Given the description of an element on the screen output the (x, y) to click on. 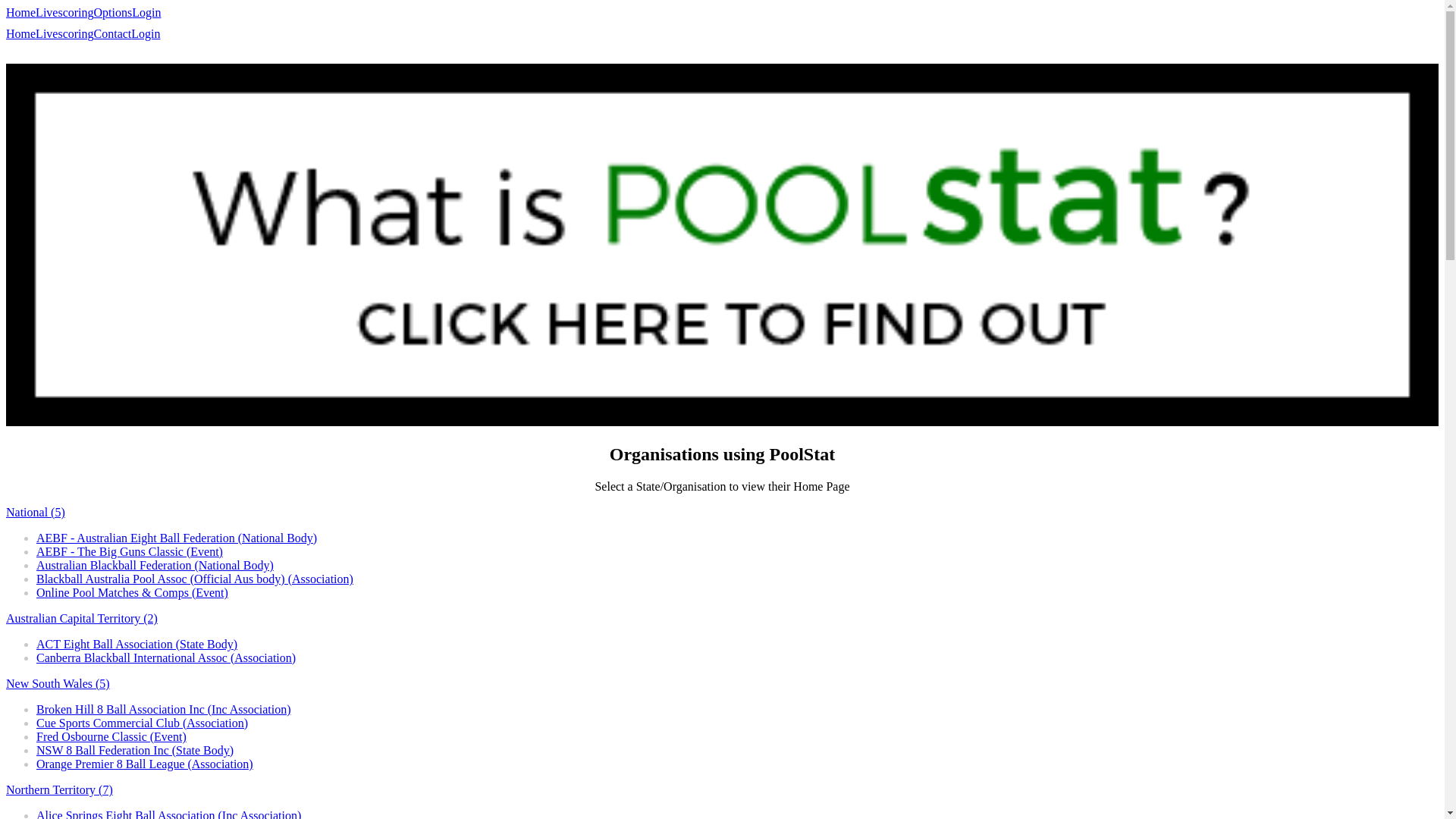
AEBF - Australian Eight Ball Federation (National Body) Element type: text (176, 537)
New South Wales (5) Element type: text (57, 683)
Broken Hill 8 Ball Association Inc (Inc Association) Element type: text (163, 708)
AEBF - The Big Guns Classic (Event) Element type: text (129, 551)
Login Element type: text (145, 33)
Home Element type: text (20, 33)
Livescoring Element type: text (64, 33)
Cue Sports Commercial Club (Association) Element type: text (141, 722)
Options Element type: text (113, 12)
Online Pool Matches & Comps (Event) Element type: text (132, 592)
National (5) Element type: text (35, 511)
Contact Element type: text (112, 33)
Australian Blackball Federation (National Body) Element type: text (154, 564)
Australian Capital Territory (2) Element type: text (81, 617)
ACT Eight Ball Association (State Body) Element type: text (136, 643)
Home Element type: text (20, 12)
Northern Territory (7) Element type: text (59, 789)
Livescoring Element type: text (64, 12)
Orange Premier 8 Ball League (Association) Element type: text (144, 763)
NSW 8 Ball Federation Inc (State Body) Element type: text (134, 749)
Canberra Blackball International Assoc (Association) Element type: text (165, 657)
Fred Osbourne Classic (Event) Element type: text (111, 736)
Login Element type: text (145, 12)
